Given the description of an element on the screen output the (x, y) to click on. 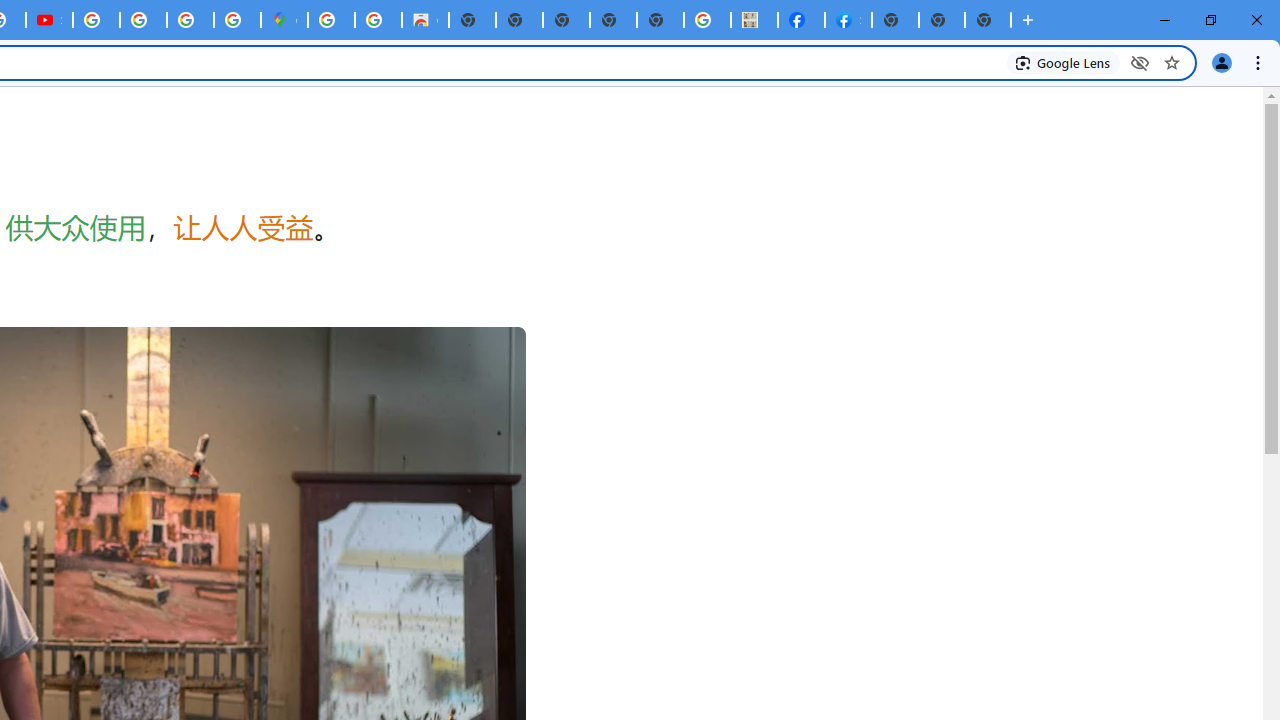
Search with Google Lens (1063, 62)
Chrome Web Store - Shopping (425, 20)
Subscriptions - YouTube (48, 20)
Miley Cyrus | Facebook (801, 20)
Sign Up for Facebook (848, 20)
